Given the description of an element on the screen output the (x, y) to click on. 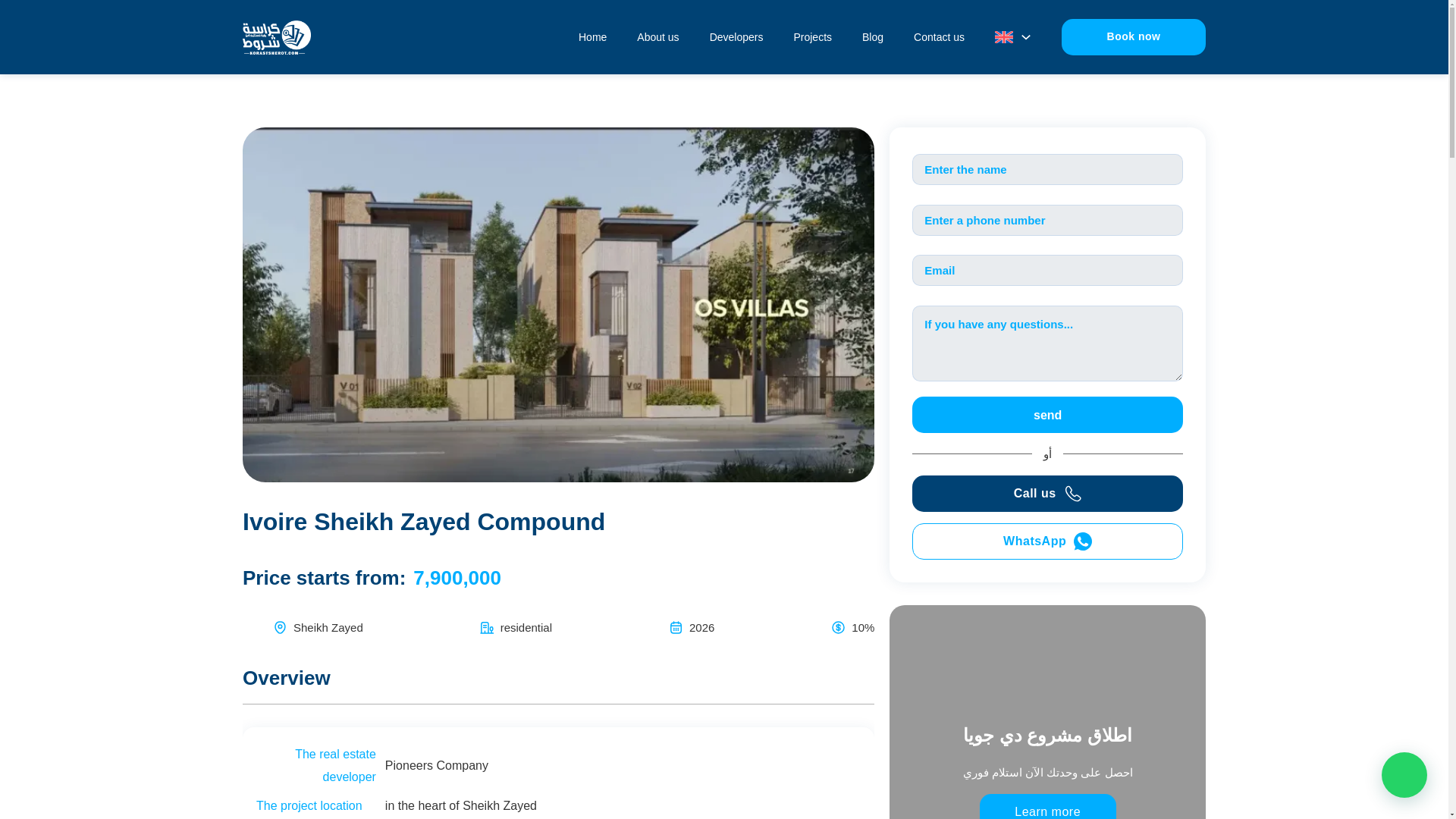
About us (657, 36)
send (1047, 414)
Developers (736, 36)
WhatsApp (1047, 541)
Contact us (938, 36)
Sheikh Zayed (328, 626)
Home (592, 36)
Blog (872, 36)
Call us (1047, 493)
Learn more (1047, 806)
